Given the description of an element on the screen output the (x, y) to click on. 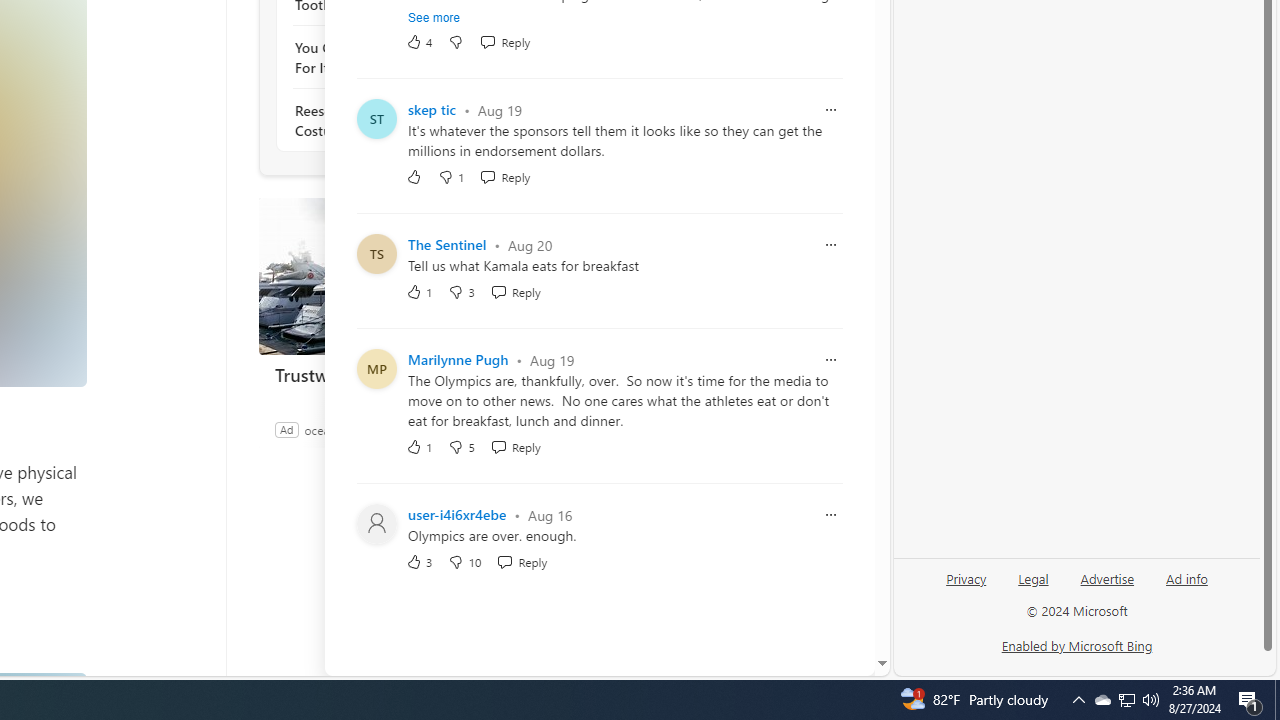
The Sentinel (447, 244)
You Can Grab An iPad At Amazon For Its Lowest Price Ever (403, 57)
oceanbluemarine (349, 429)
Profile Picture (376, 523)
Reply Reply Comment (521, 561)
4 Like (419, 42)
